Given the description of an element on the screen output the (x, y) to click on. 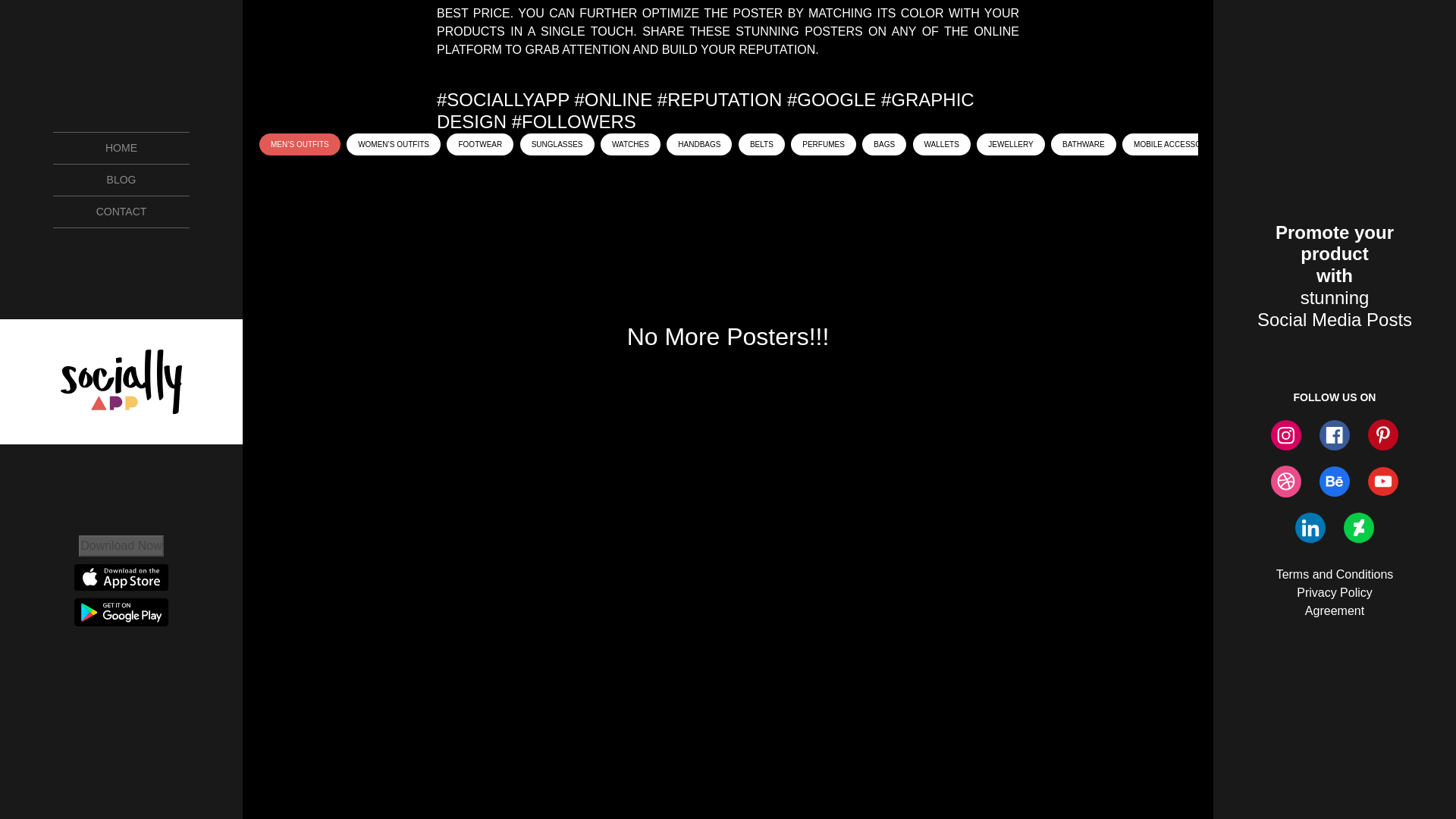
WATCHES (630, 143)
HANDBAGS (699, 143)
FURNITURE (1396, 143)
MOBILE ACCESSORIES (1176, 143)
PERFUMES (823, 143)
SALOON (1328, 143)
WALLETS (941, 143)
FOOTWEAR (480, 143)
No More Posters!!! (727, 336)
BELTS (761, 143)
